Given the description of an element on the screen output the (x, y) to click on. 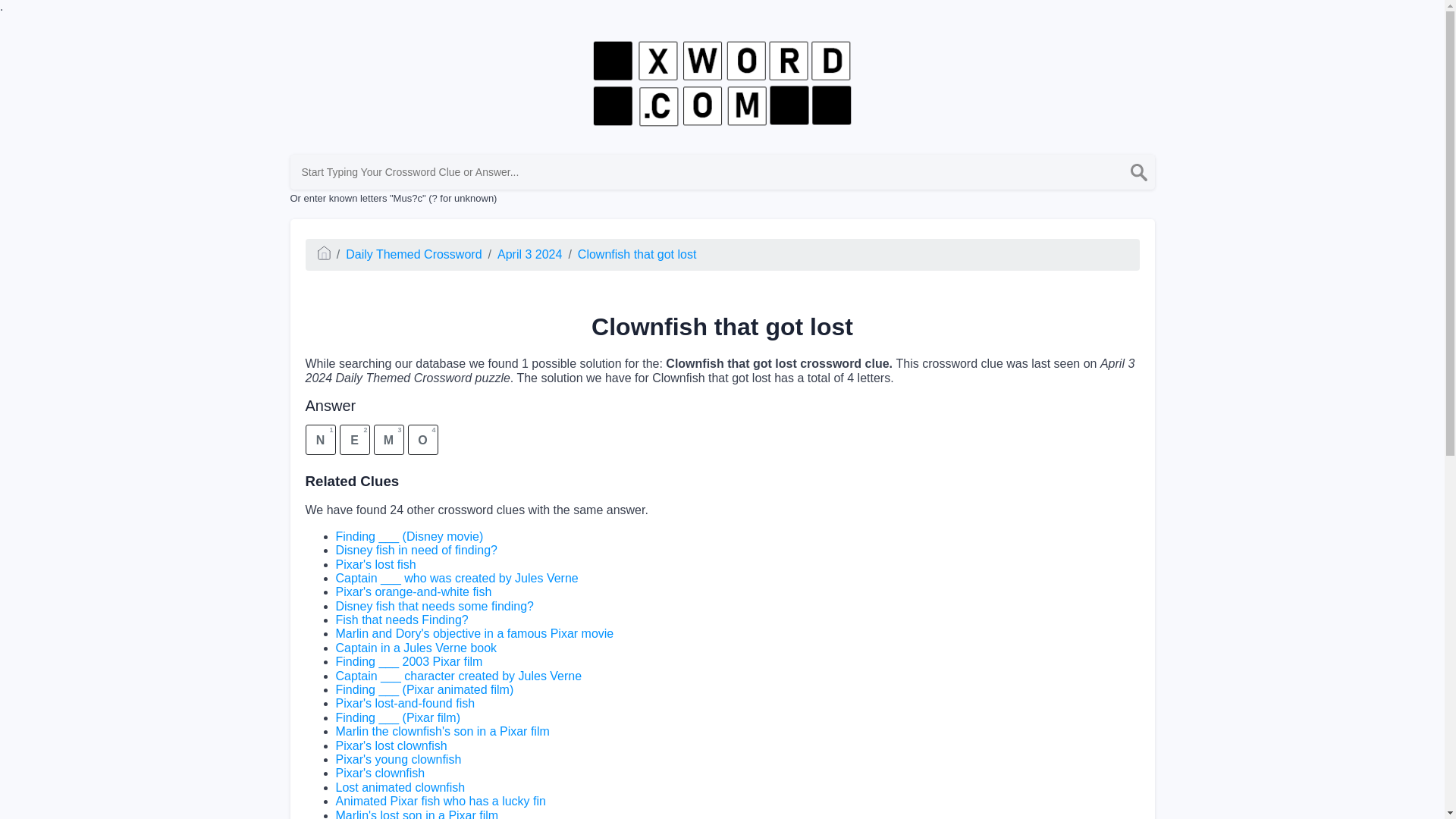
Pixar's orange-and-white fish (413, 591)
Pixar's young clownfish (397, 758)
Lost animated clownfish (399, 787)
Pixar's clownfish (379, 772)
April 3 2024 (529, 254)
Animated Pixar fish who has a lucky fin (439, 800)
Marlin and Dory's objective in a famous Pixar movie (473, 633)
Captain in a Jules Verne book (415, 647)
Daily Themed Crossword (413, 254)
Pixar's lost-and-found fish (404, 703)
Pixar's lost fish (374, 563)
Clownfish that got lost (637, 254)
Marlin the clownfish's son in a Pixar film (441, 730)
Pixar's lost clownfish (390, 745)
Marlin's lost son in a Pixar film (415, 814)
